Given the description of an element on the screen output the (x, y) to click on. 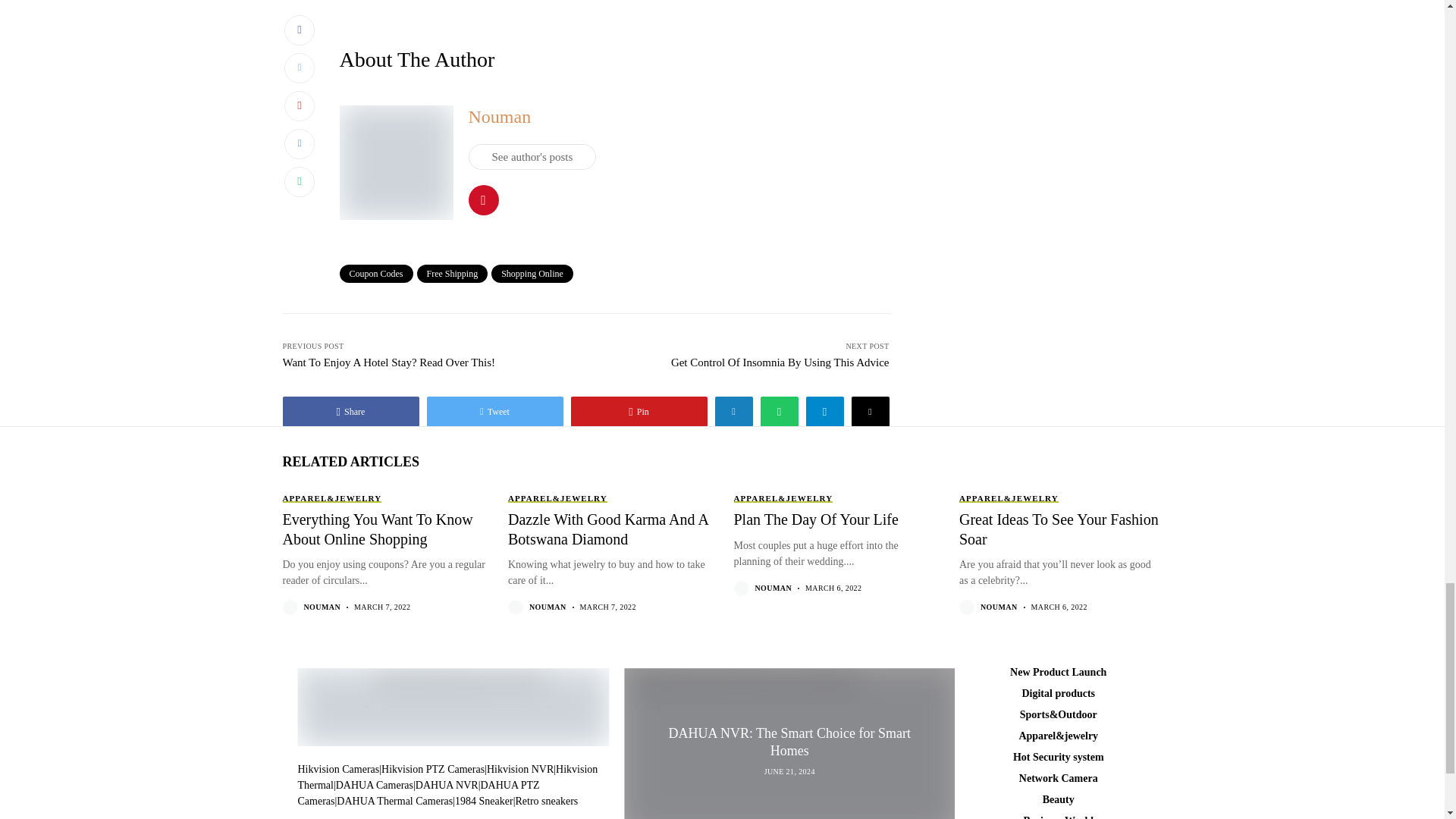
HIKVISION NVR (519, 768)
Posts by Nouman (998, 606)
Posts by Nouman (547, 606)
Posts by Nouman (773, 587)
HIKVISION Cameras (337, 768)
HIKVISION PTZ Cameras (432, 768)
Dahua Cameras (374, 785)
HIKVISION NVR (446, 777)
Posts by Nouman (321, 606)
